Given the description of an element on the screen output the (x, y) to click on. 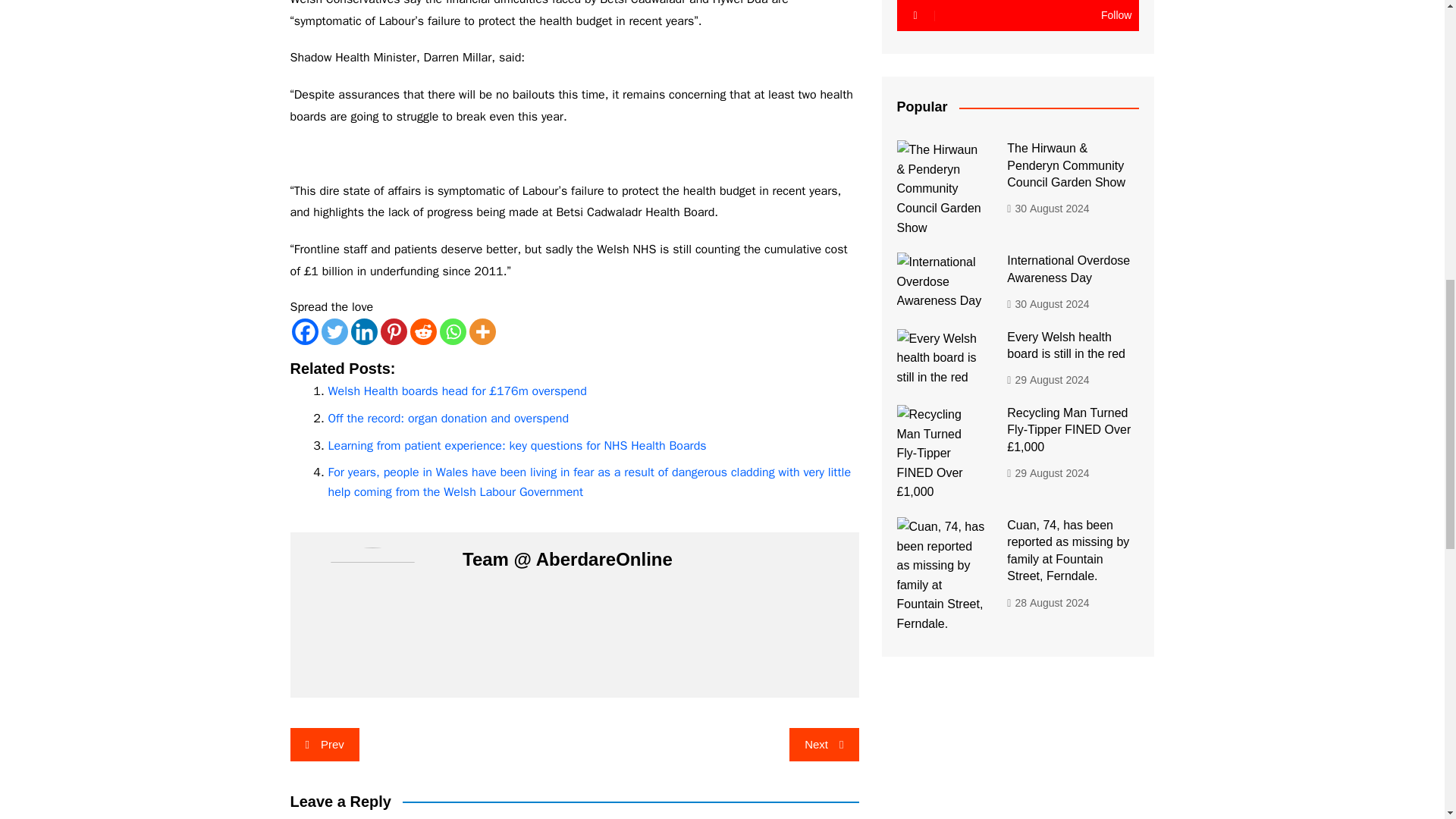
Reddit (422, 331)
Next (824, 744)
Facebook (304, 331)
Twitter (334, 331)
Off the record: organ donation and overspend (448, 418)
More (481, 331)
Prev (323, 744)
